Given the description of an element on the screen output the (x, y) to click on. 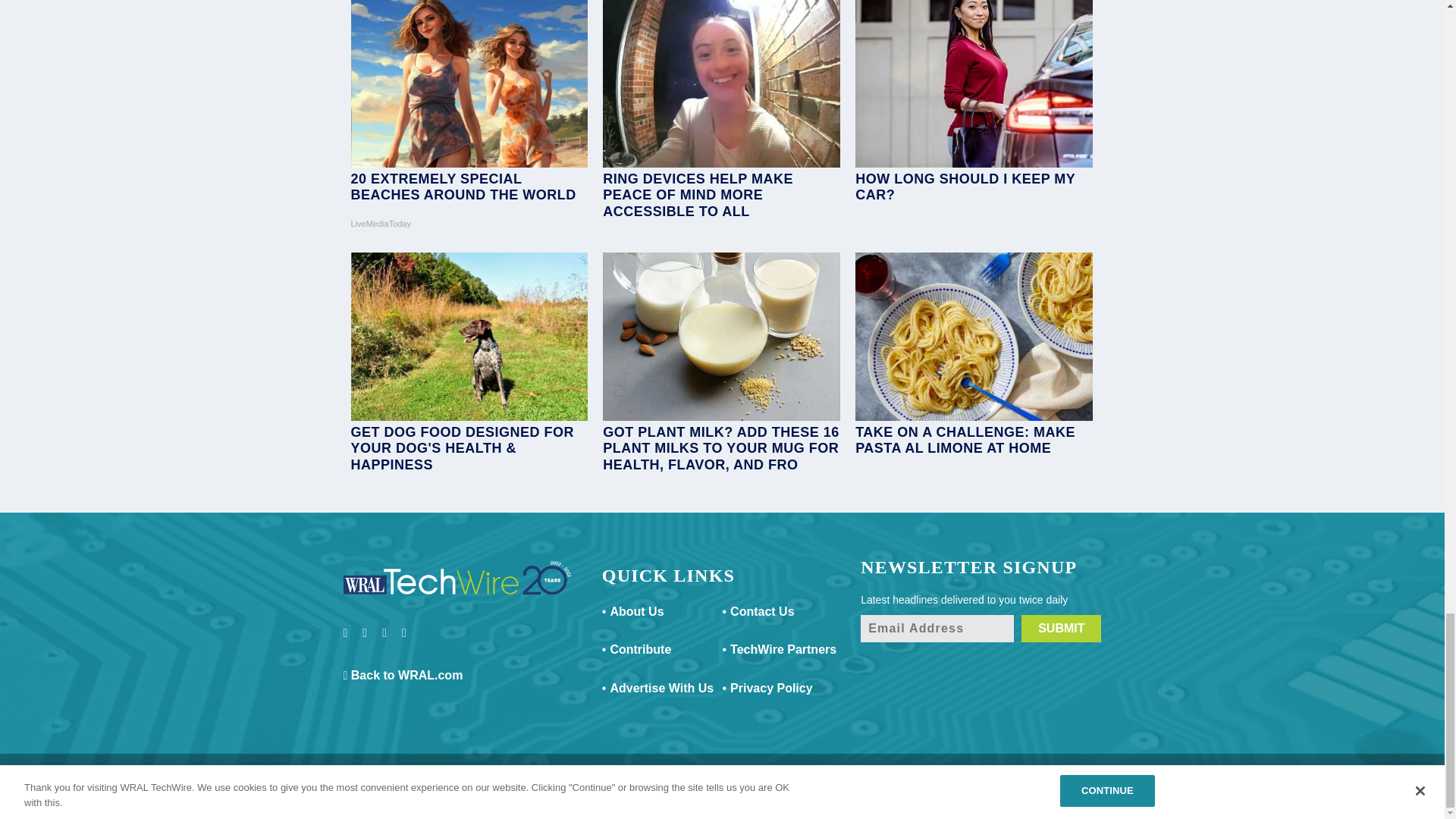
SUBMIT (1061, 628)
